Given the description of an element on the screen output the (x, y) to click on. 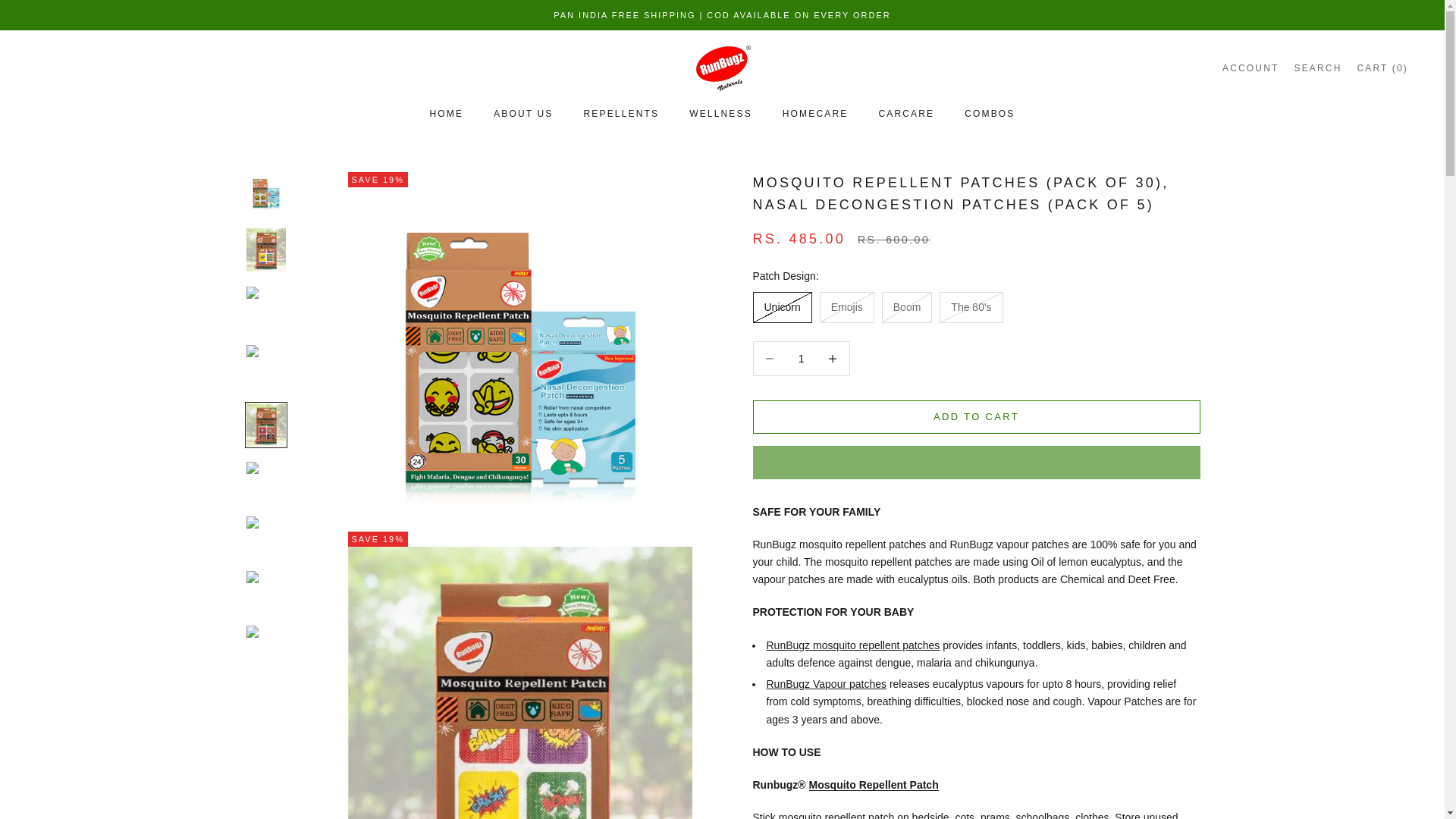
ABOUT US (523, 113)
1 (801, 358)
HOME (446, 113)
RunBugz (722, 67)
Boom (1250, 67)
